Given the description of an element on the screen output the (x, y) to click on. 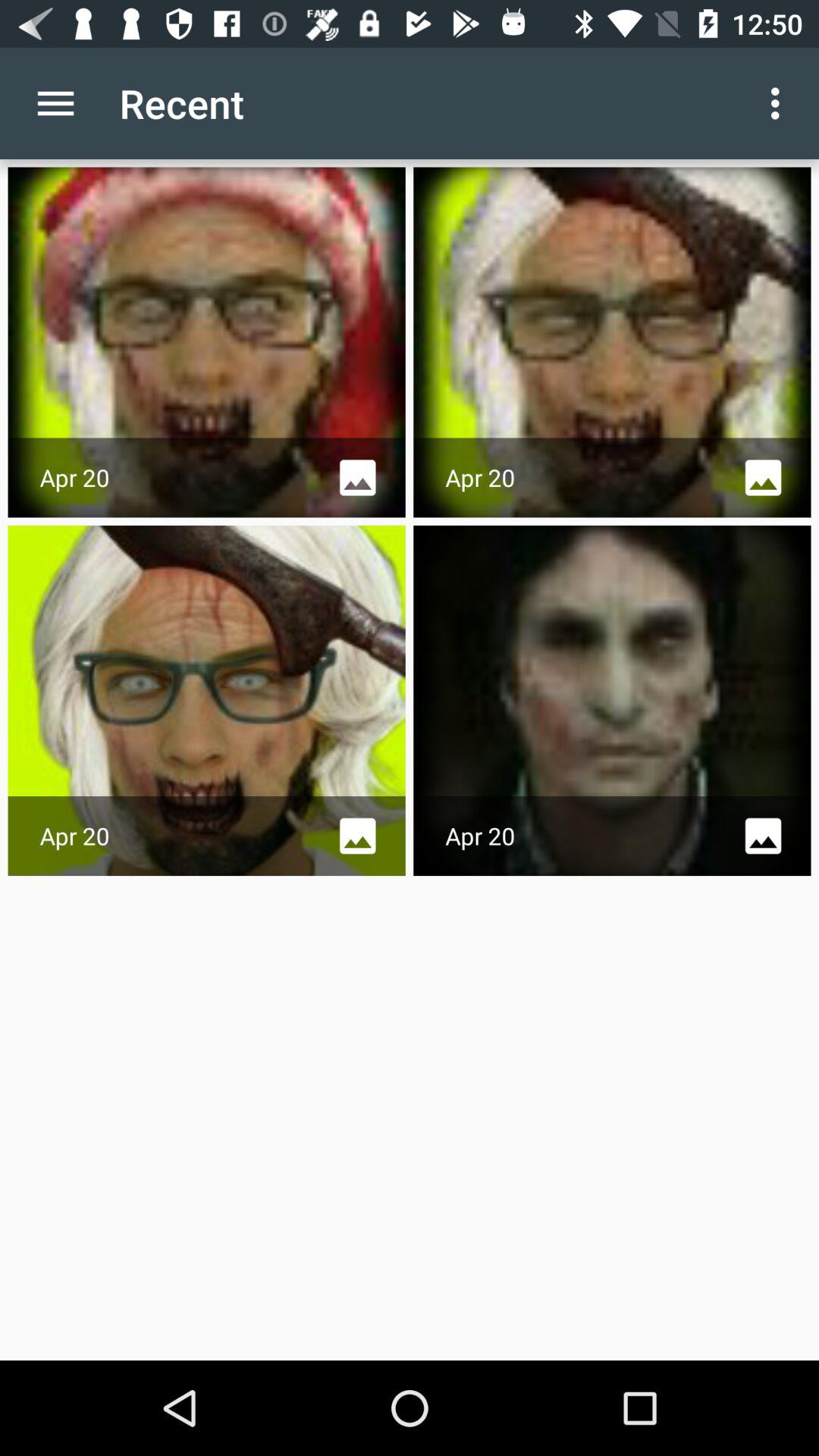
open icon to the right of recent (779, 103)
